Given the description of an element on the screen output the (x, y) to click on. 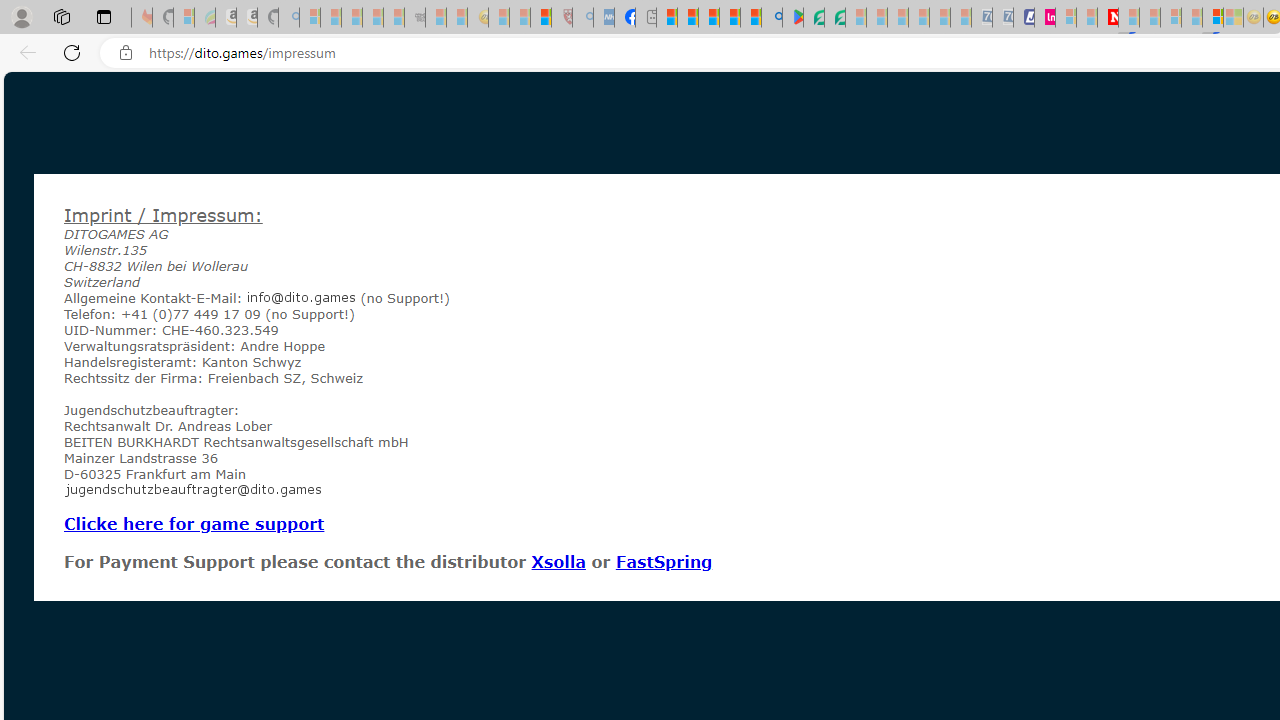
New Report Confirms 2023 Was Record Hot | Watch - Sleeping (394, 17)
Clicke here for game support (194, 523)
Latest Politics News & Archive | Newsweek.com (1107, 17)
Terms of Use Agreement (813, 17)
14 Common Myths Debunked By Scientific Facts - Sleeping (1149, 17)
Jobs - lastminute.com Investor Portal (1044, 17)
Cheap Hotels - Save70.com - Sleeping (1002, 17)
